Given the description of an element on the screen output the (x, y) to click on. 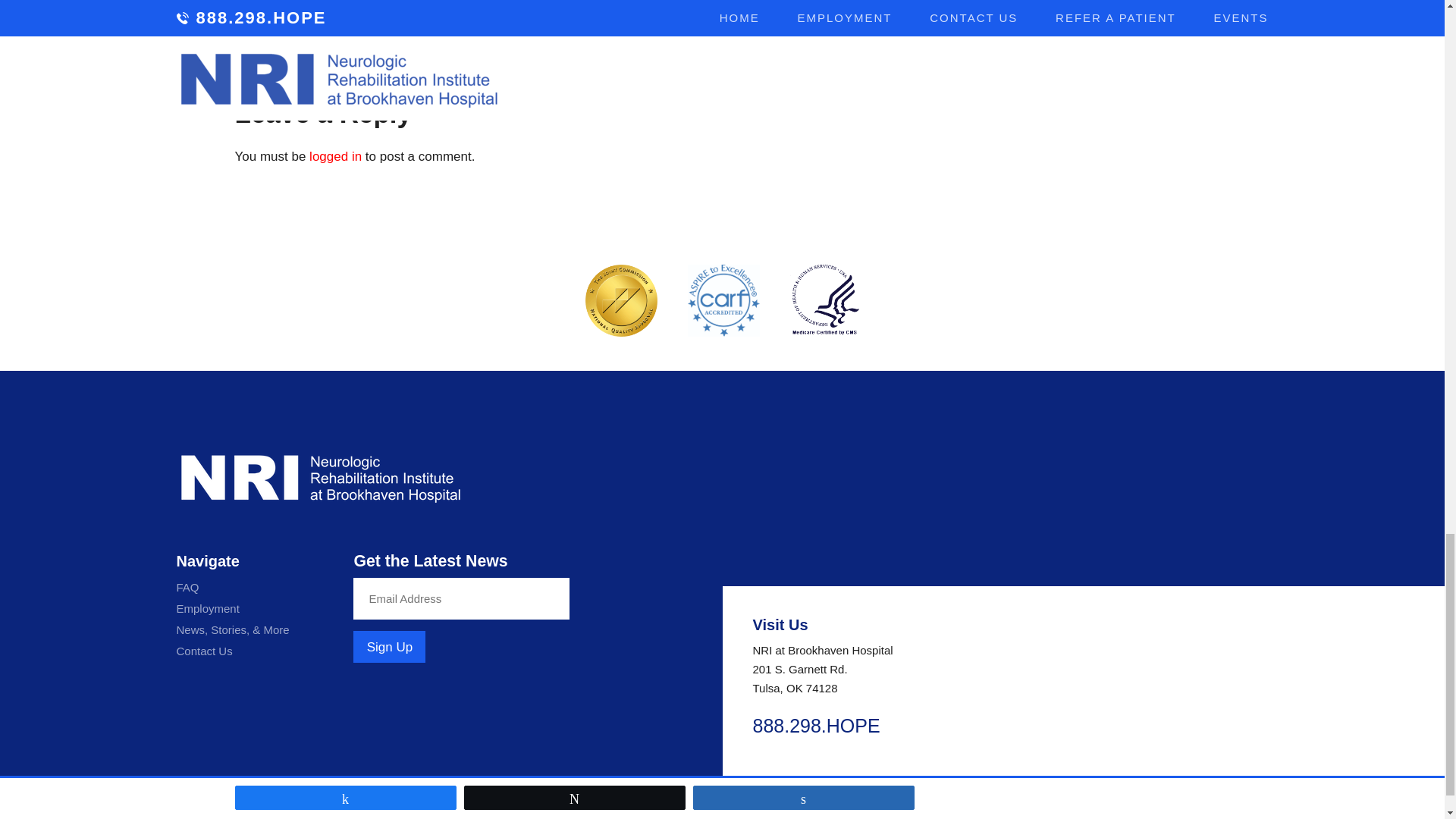
Sign Up (389, 646)
